Given the description of an element on the screen output the (x, y) to click on. 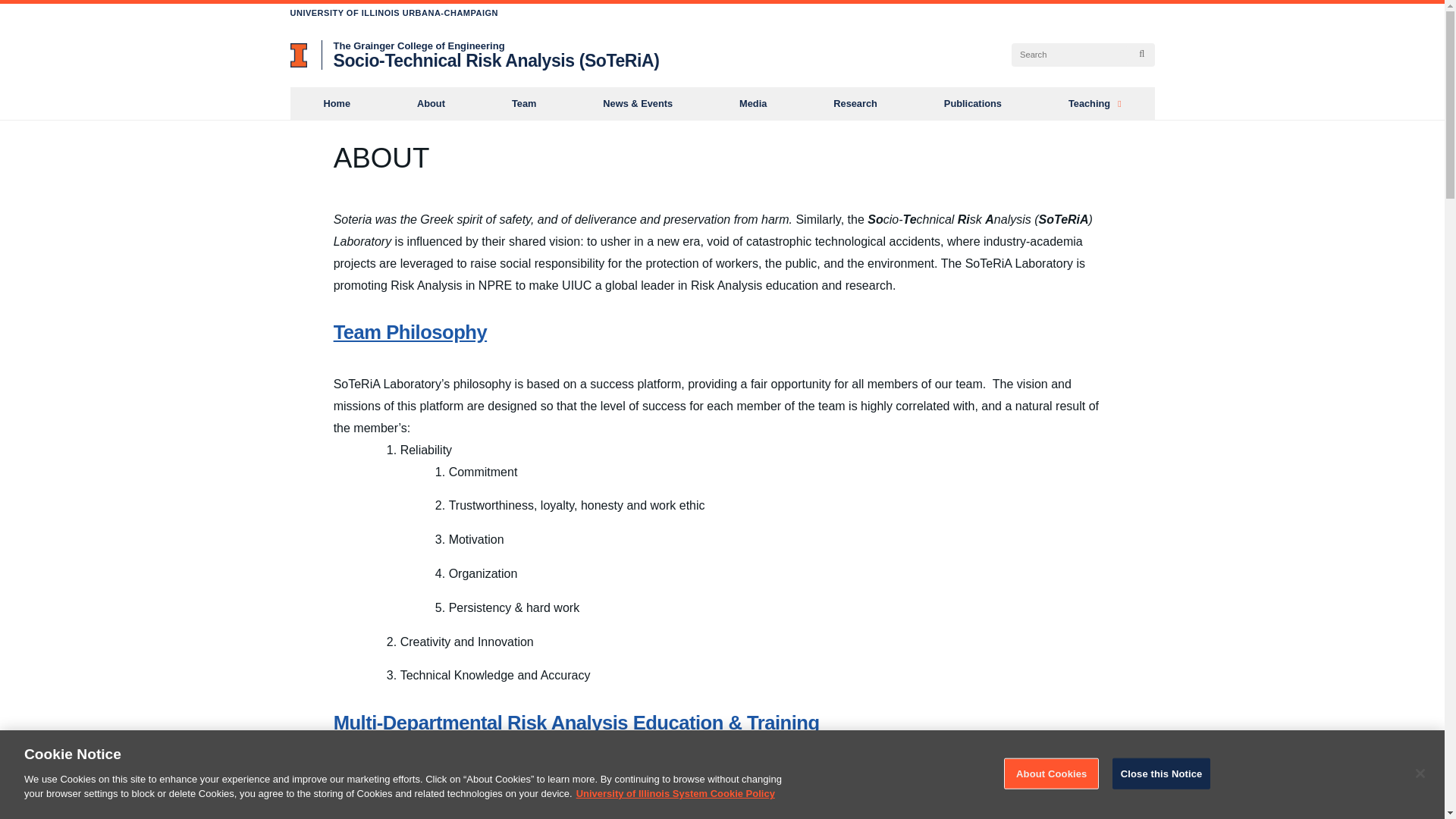
The Grainger College of Engineering (419, 45)
Media (752, 102)
University of Illinois System Cookie Policy (675, 793)
Home (336, 102)
Research (855, 102)
UNIVERSITY OF ILLINOIS URBANA-CHAMPAIGN (393, 12)
Team (524, 102)
Close this Notice (1161, 773)
Publications (973, 102)
Team Philosophy (410, 332)
About Cookies (1051, 773)
Teaching (1094, 102)
About (431, 102)
